Given the description of an element on the screen output the (x, y) to click on. 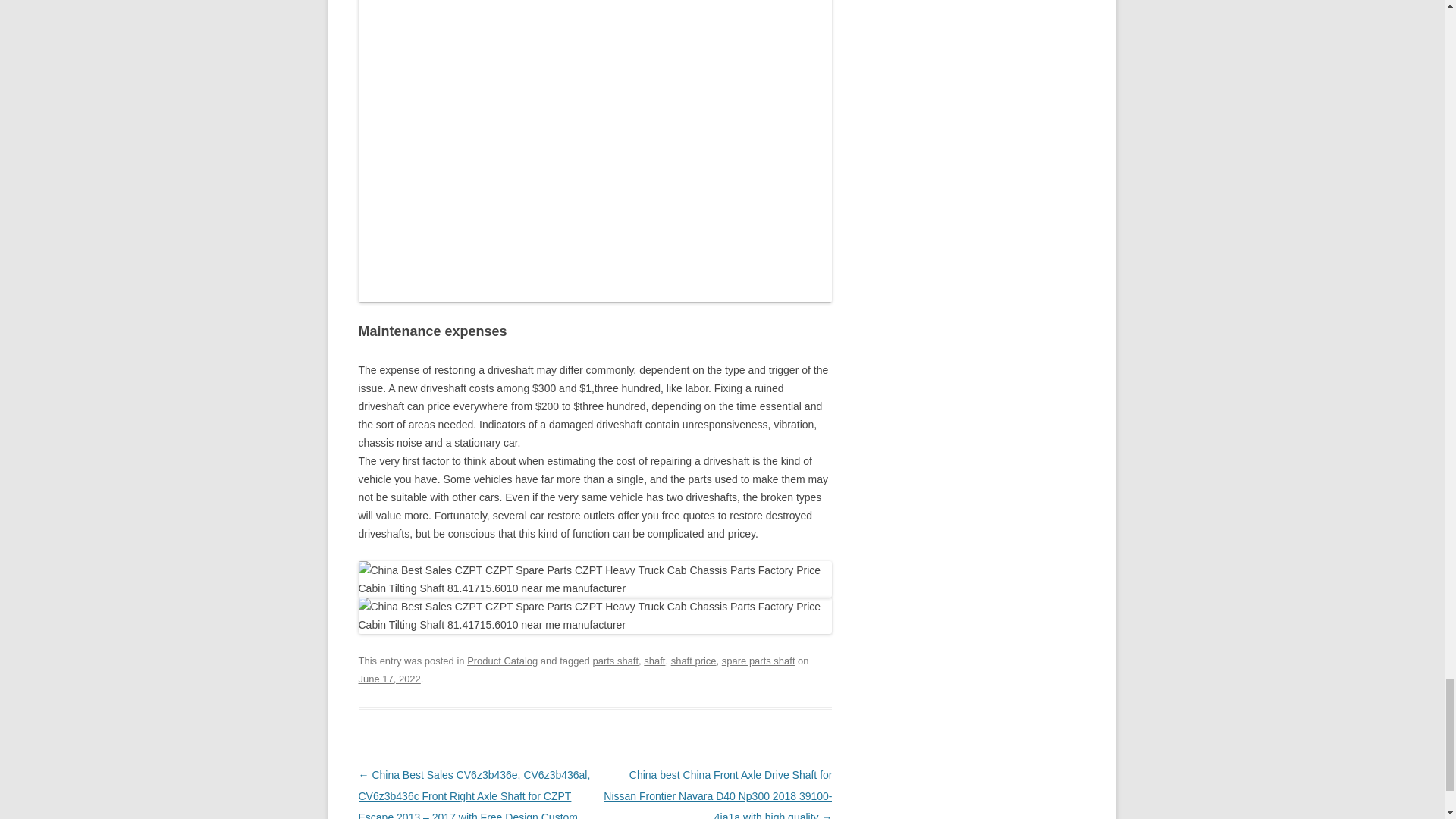
spare parts shaft (758, 660)
June 17, 2022 (389, 678)
4:00 am (389, 678)
Product Catalog (502, 660)
shaft price (693, 660)
shaft (654, 660)
parts shaft (615, 660)
